Given the description of an element on the screen output the (x, y) to click on. 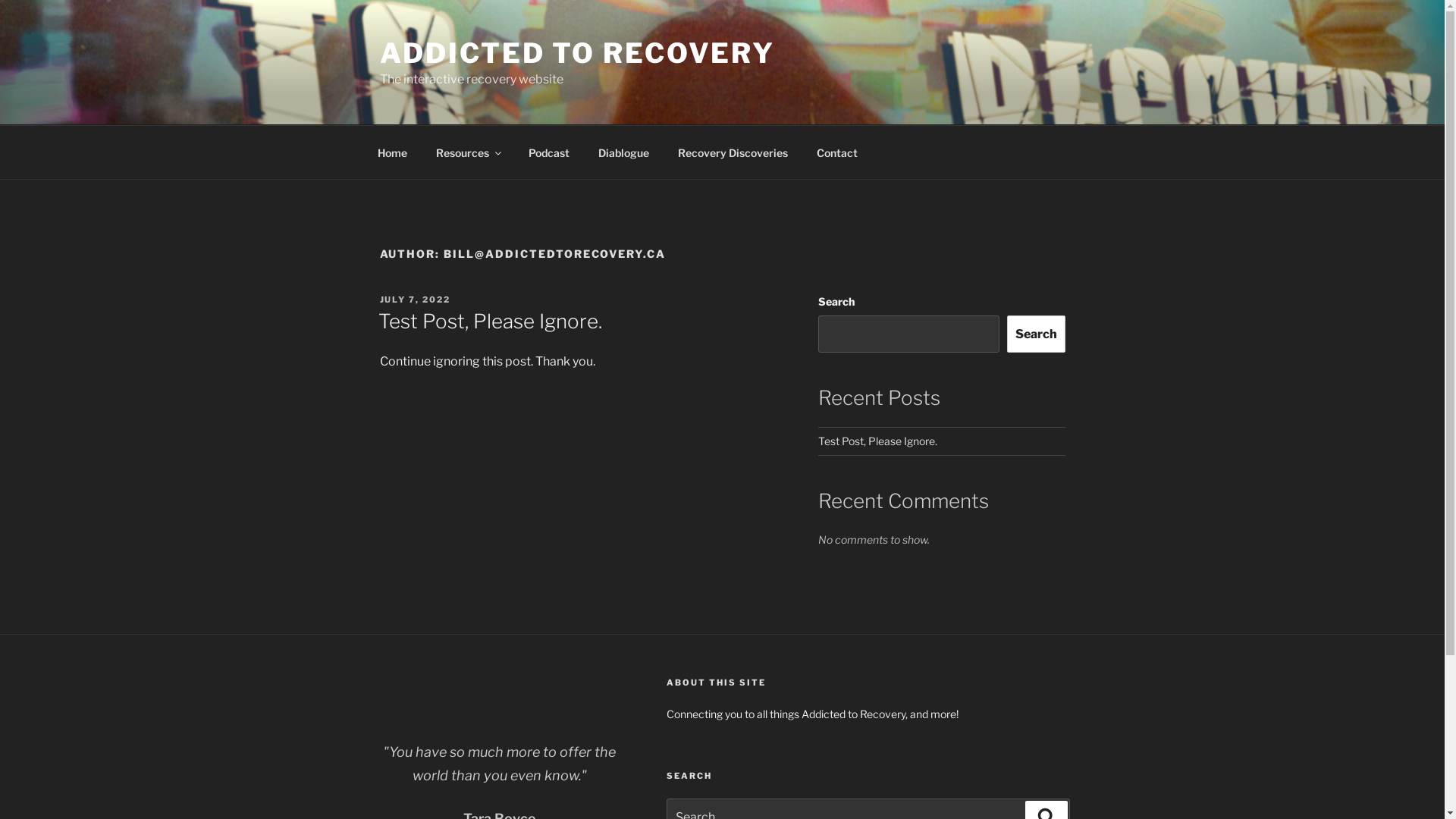
Contact Element type: text (837, 151)
Diablogue Element type: text (623, 151)
Resources Element type: text (468, 151)
Podcast Element type: text (549, 151)
ADDICTED TO RECOVERY Element type: text (577, 52)
Search Element type: text (1036, 333)
Recovery Discoveries Element type: text (732, 151)
JULY 7, 2022 Element type: text (414, 299)
Test Post, Please Ignore. Element type: text (877, 440)
Home Element type: text (392, 151)
Test Post, Please Ignore. Element type: text (489, 320)
